Given the description of an element on the screen output the (x, y) to click on. 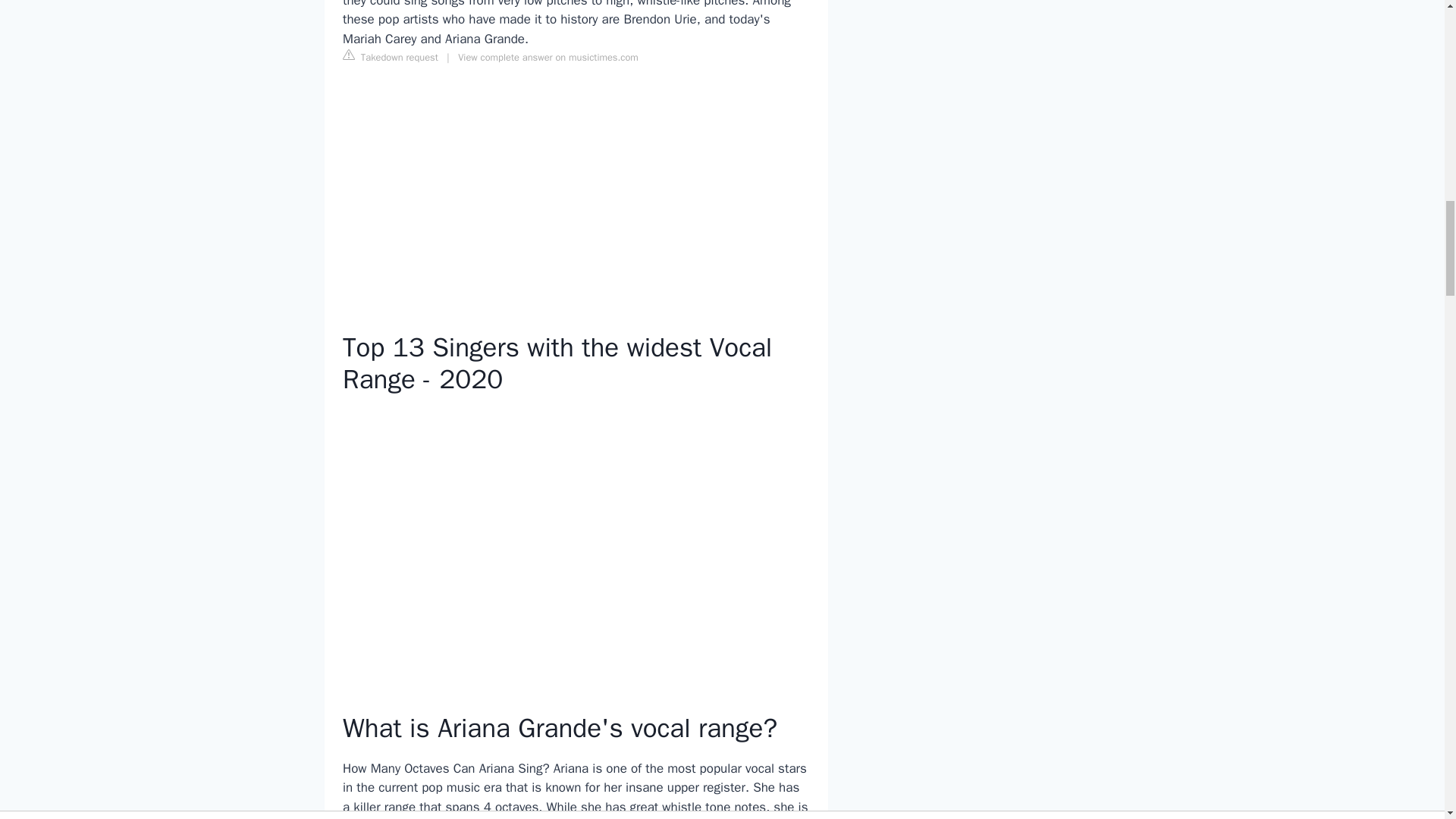
Top 13 Singers with the widest Vocal Range - 2020 (575, 541)
View complete answer on musictimes.com (548, 57)
Takedown request (390, 56)
